Given the description of an element on the screen output the (x, y) to click on. 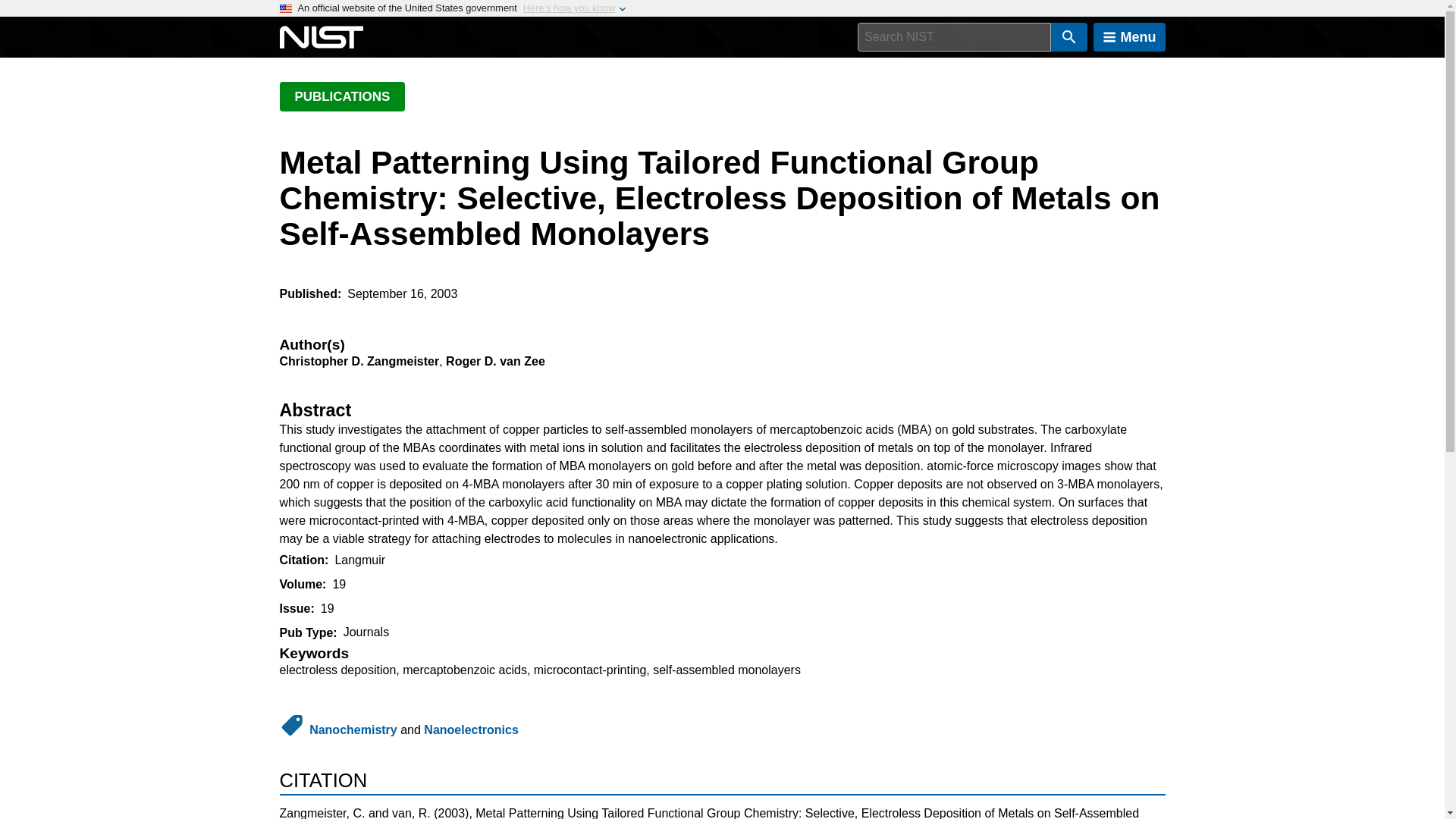
National Institute of Standards and Technology (320, 36)
Menu (1129, 36)
